Given the description of an element on the screen output the (x, y) to click on. 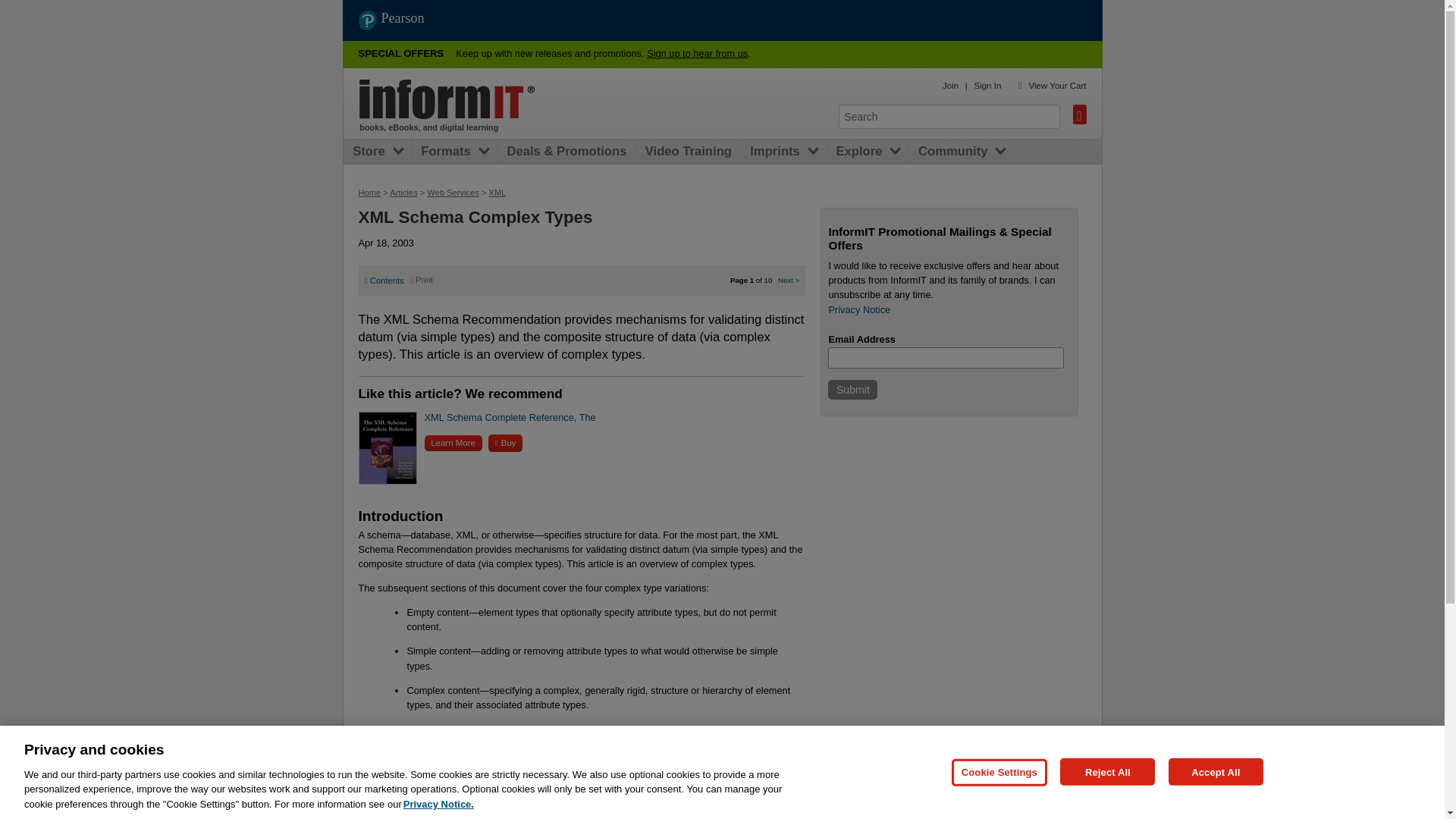
XML (497, 192)
Web Services (452, 192)
Learn More (453, 442)
Submit (852, 389)
Articles (403, 192)
View Your Cart (1057, 85)
Submit (852, 389)
Privacy Notice (858, 309)
Print (421, 279)
Sign In (987, 85)
Home (446, 98)
Home (369, 192)
Join (950, 85)
XML Schema Complete Reference, The (510, 417)
Sign up to hear from us (697, 52)
